Given the description of an element on the screen output the (x, y) to click on. 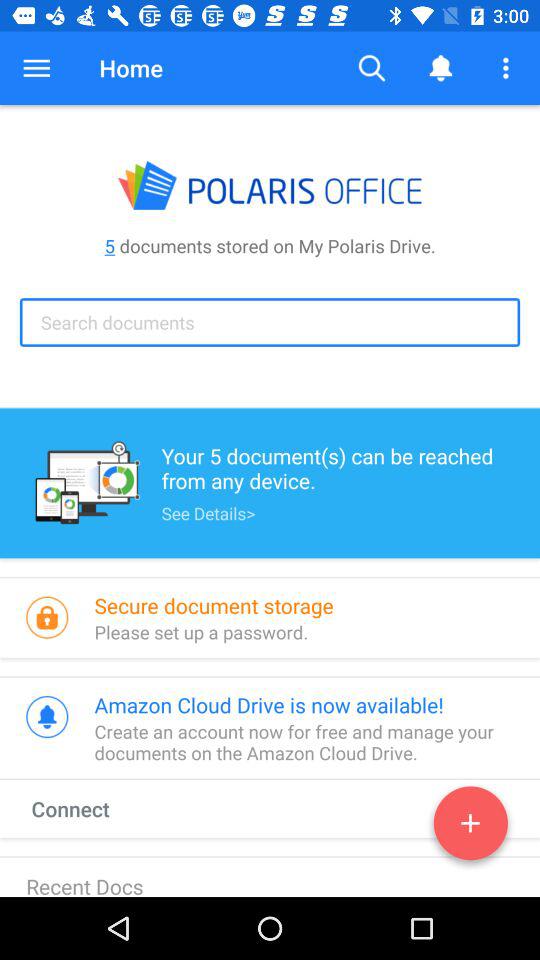
add connections (470, 827)
